Given the description of an element on the screen output the (x, y) to click on. 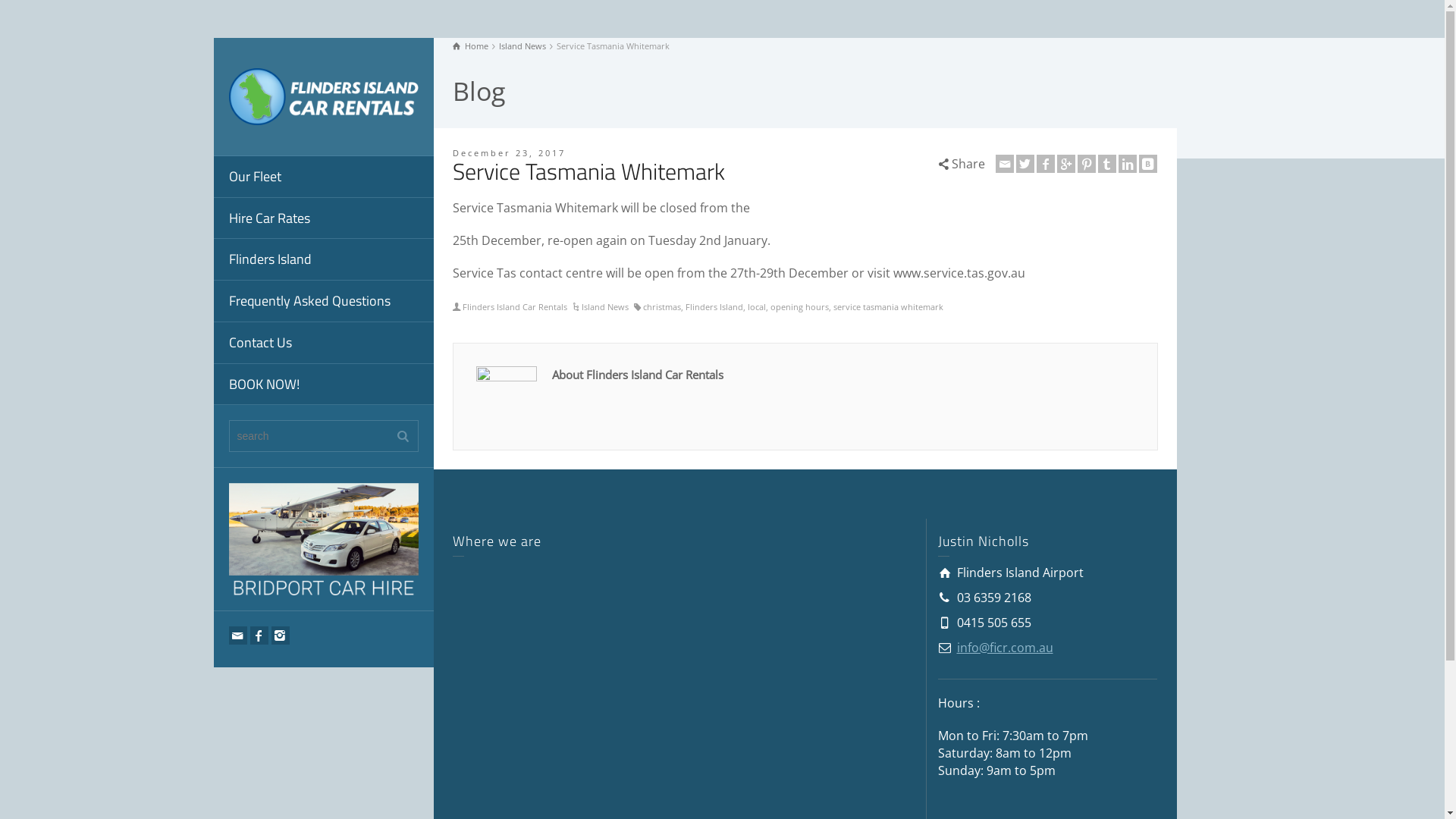
Facebook Element type: hover (1045, 163)
Linkedin Element type: hover (1127, 163)
Flinders Island Element type: text (714, 306)
Flinders Island Element type: text (323, 259)
opening hours Element type: text (799, 306)
Contact Us Element type: text (323, 343)
Tumblr Element type: hover (1107, 163)
Email Element type: hover (1004, 163)
BOOK NOW! Element type: text (323, 384)
Email Element type: hover (238, 635)
local Element type: text (756, 306)
christmas Element type: text (661, 306)
Facebook Element type: hover (259, 635)
Frequently Asked Questions Element type: text (323, 301)
Flinders Island Car Rentals Element type: text (514, 306)
Pinterest Element type: hover (1086, 163)
Home Element type: text (469, 45)
Hire Car Rates Element type: text (323, 218)
Vkontakte Element type: hover (1148, 163)
Our Fleet Element type: text (323, 176)
info@ficr.com.au Element type: text (1005, 646)
Twitter Element type: hover (1025, 163)
Google + Element type: hover (1066, 163)
Flinders Island Car Rentals Element type: hover (323, 95)
Island News Element type: text (604, 306)
service tasmania whitemark Element type: text (888, 306)
Instagram Element type: hover (280, 635)
Island News Element type: text (522, 45)
